Given the description of an element on the screen output the (x, y) to click on. 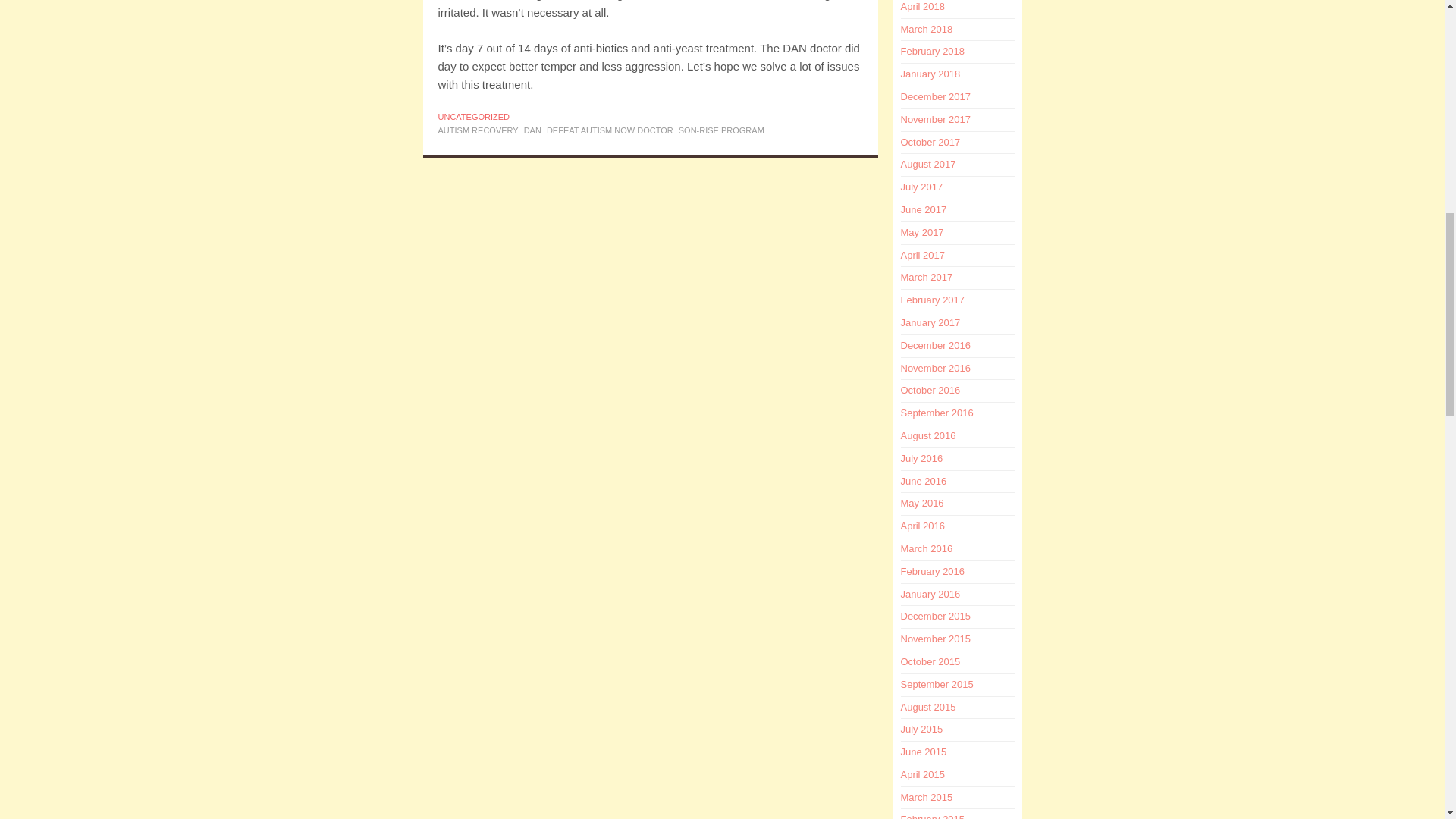
October 2017 (930, 142)
January 2018 (930, 73)
December 2017 (936, 96)
March 2018 (927, 29)
UNCATEGORIZED (474, 116)
November 2017 (936, 119)
AUTISM RECOVERY (478, 130)
February 2018 (933, 50)
SON-RISE PROGRAM (721, 130)
DAN (532, 130)
April 2018 (922, 6)
DEFEAT AUTISM NOW DOCTOR (609, 130)
August 2017 (928, 163)
